Given the description of an element on the screen output the (x, y) to click on. 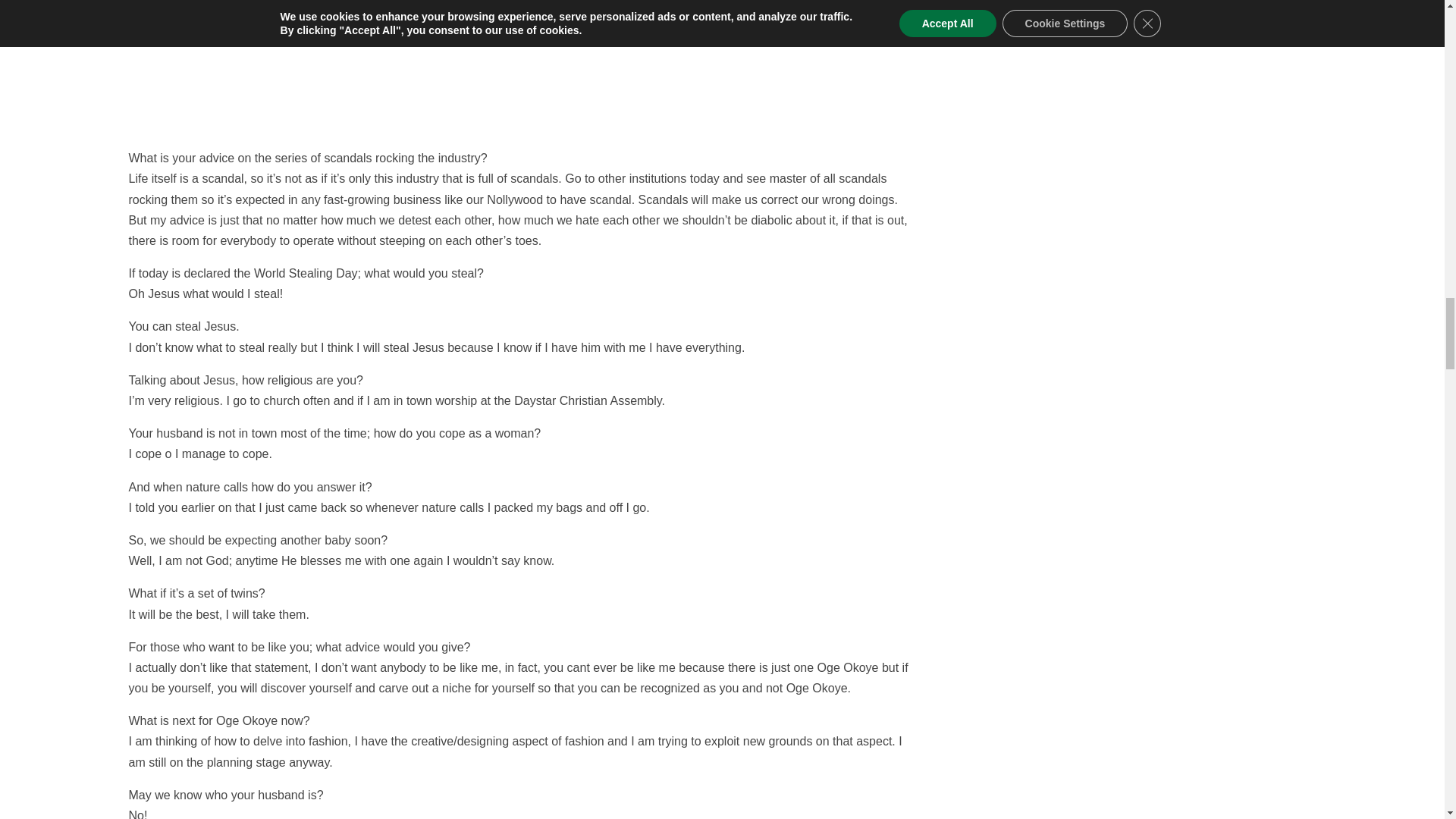
Advertisement (521, 74)
